Given the description of an element on the screen output the (x, y) to click on. 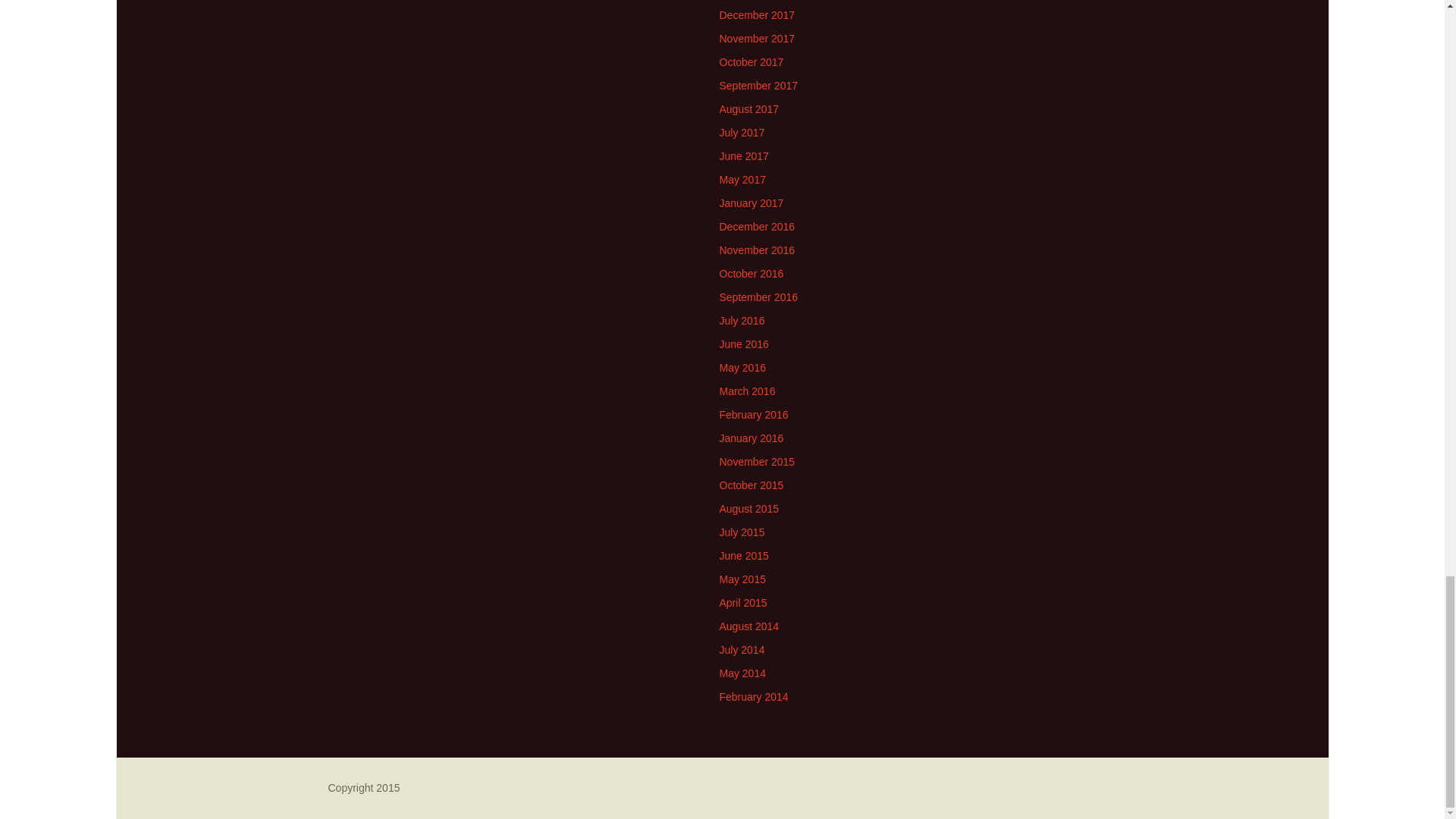
Semantic Personal Publishing Platform (362, 787)
